Given the description of an element on the screen output the (x, y) to click on. 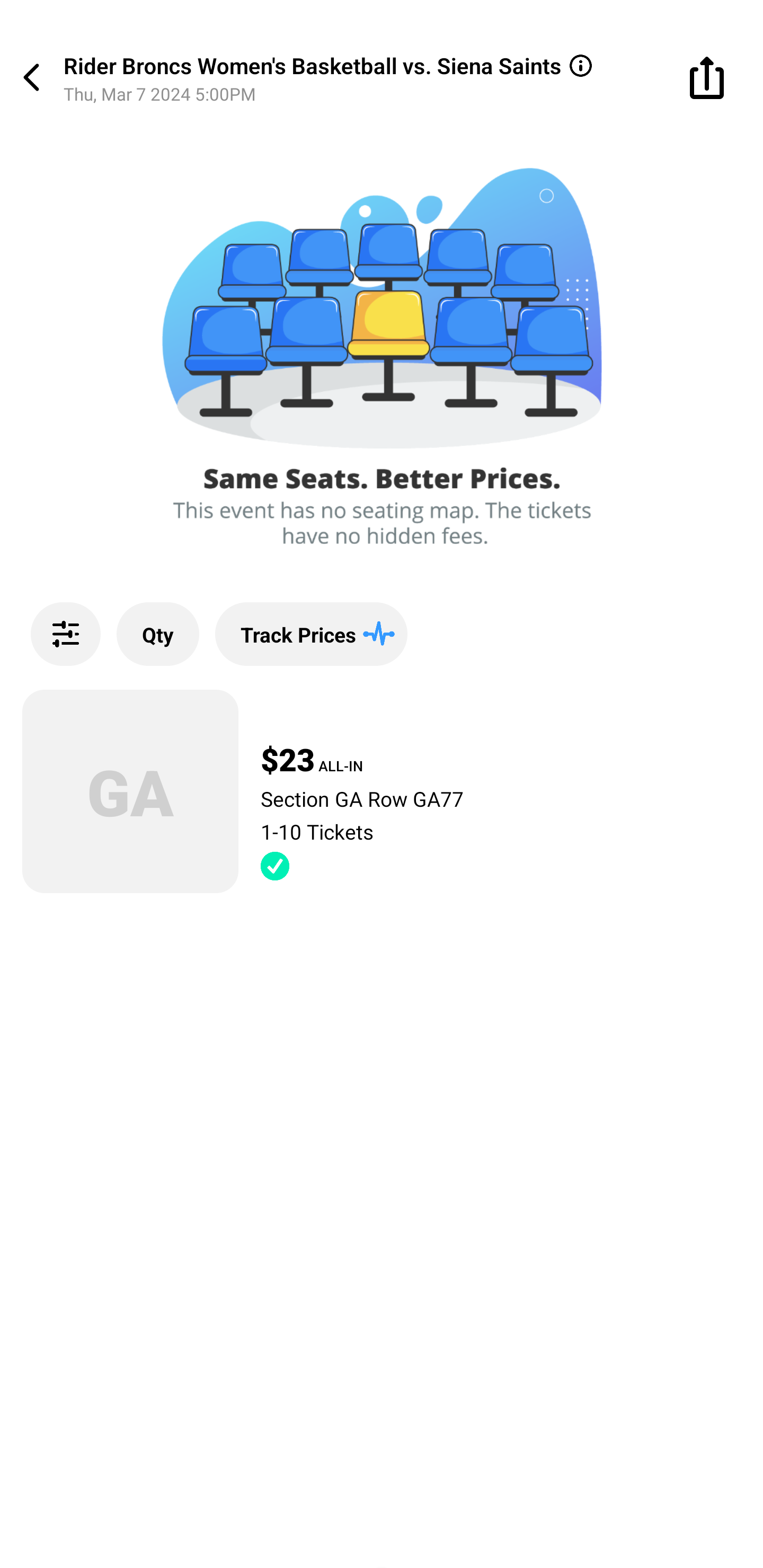
Qty (157, 634)
Track Prices (311, 634)
